Given the description of an element on the screen output the (x, y) to click on. 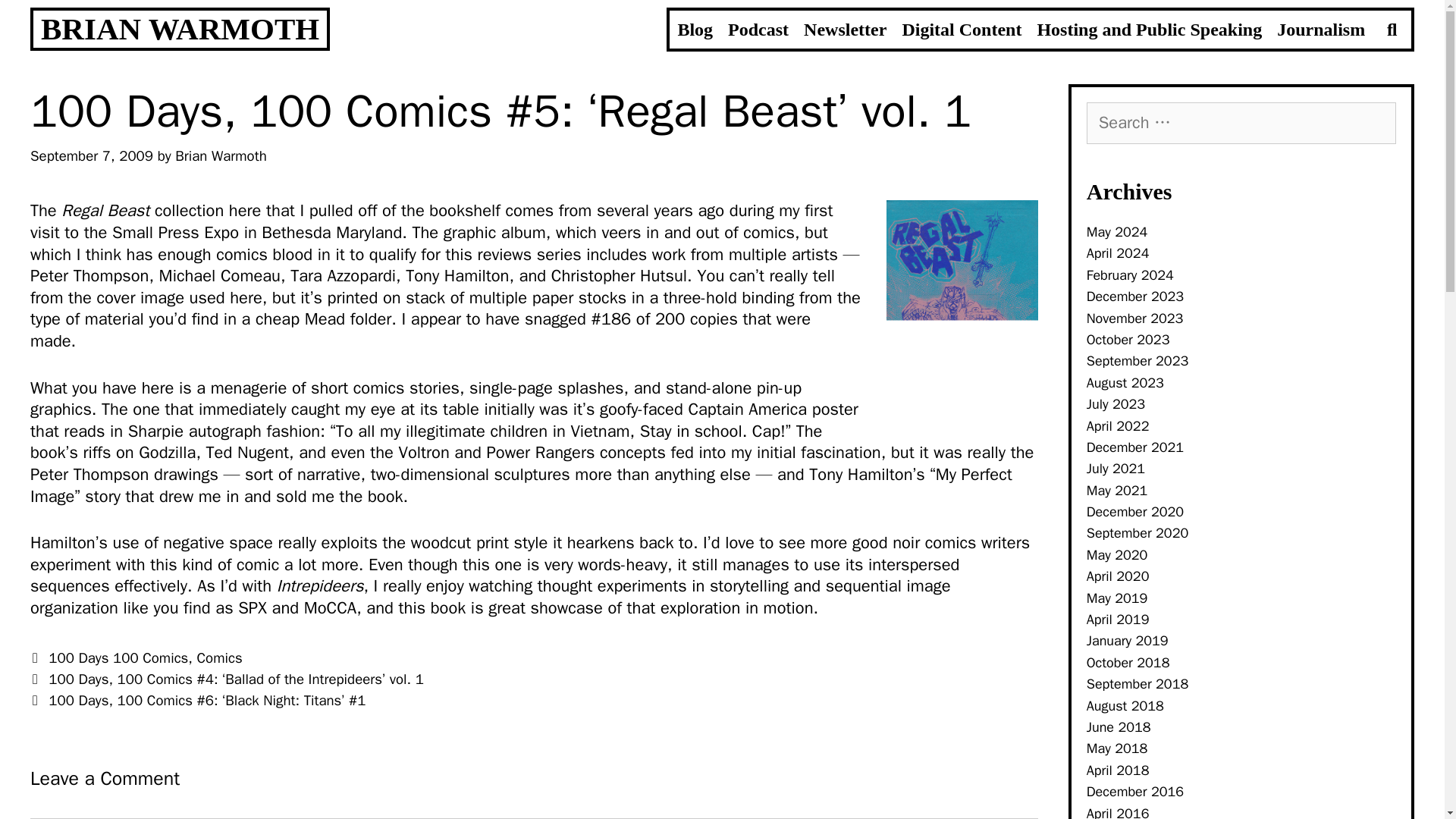
Search (370, 18)
December 2023 (1134, 296)
May 2019 (1117, 597)
Digital Content (961, 29)
September 7, 2009 (91, 156)
April 2024 (1118, 252)
12:01 am (91, 156)
August 2023 (1124, 382)
April 2019 (1118, 619)
Blog (694, 29)
